Given the description of an element on the screen output the (x, y) to click on. 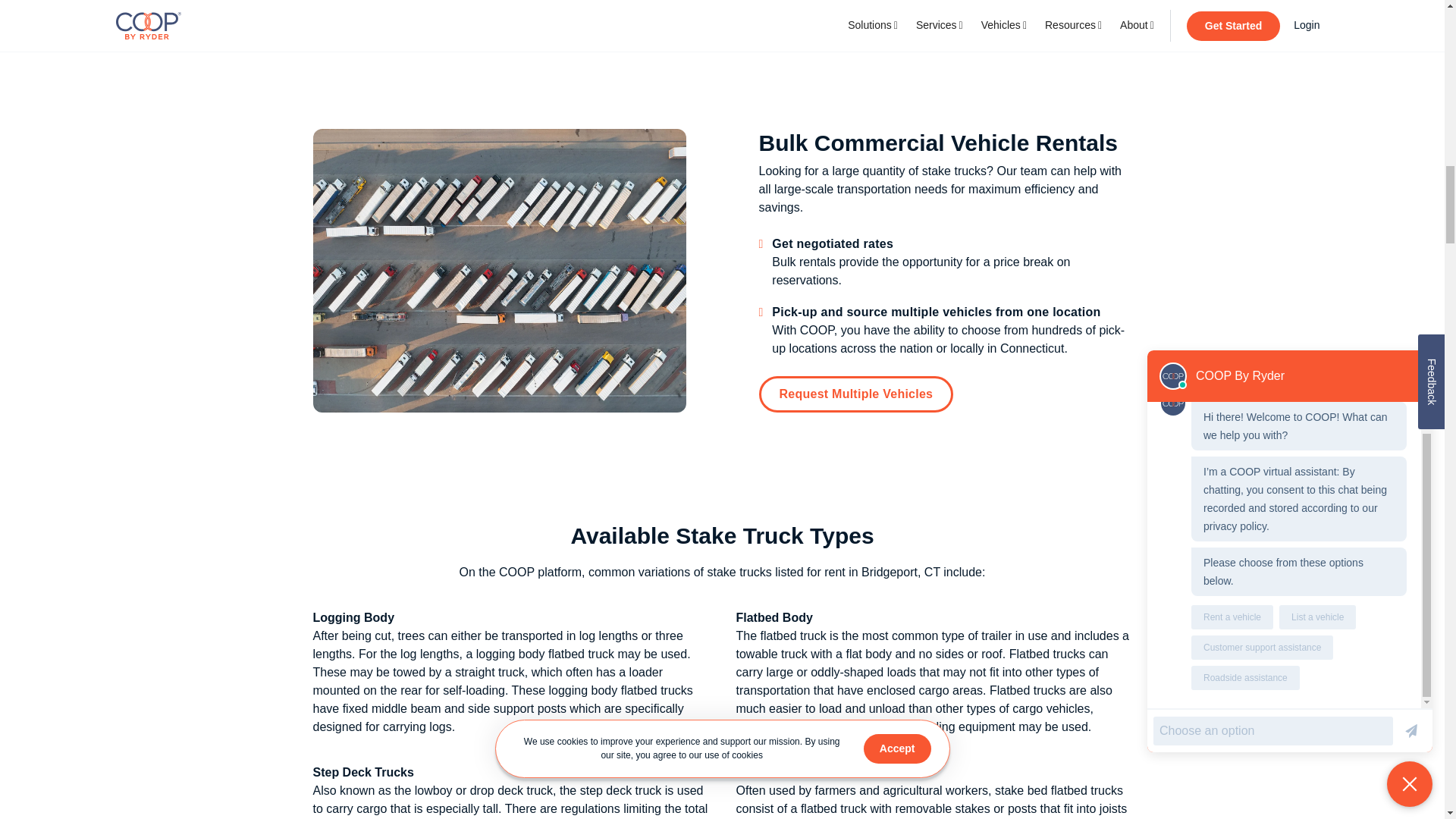
Request Multiple Vehicles (855, 393)
Apply to Rent Near You (722, 9)
